Given the description of an element on the screen output the (x, y) to click on. 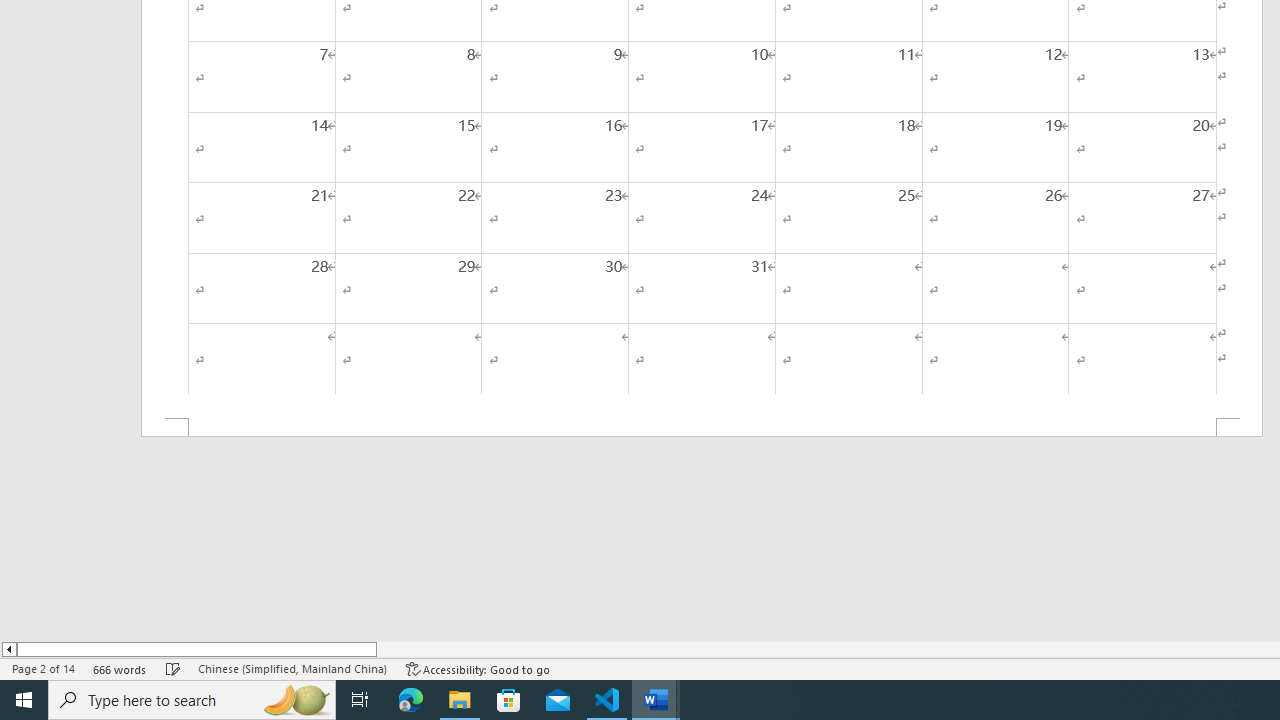
Word Count 666 words (119, 668)
Page Number Page 2 of 14 (43, 668)
Column left (8, 649)
